Given the description of an element on the screen output the (x, y) to click on. 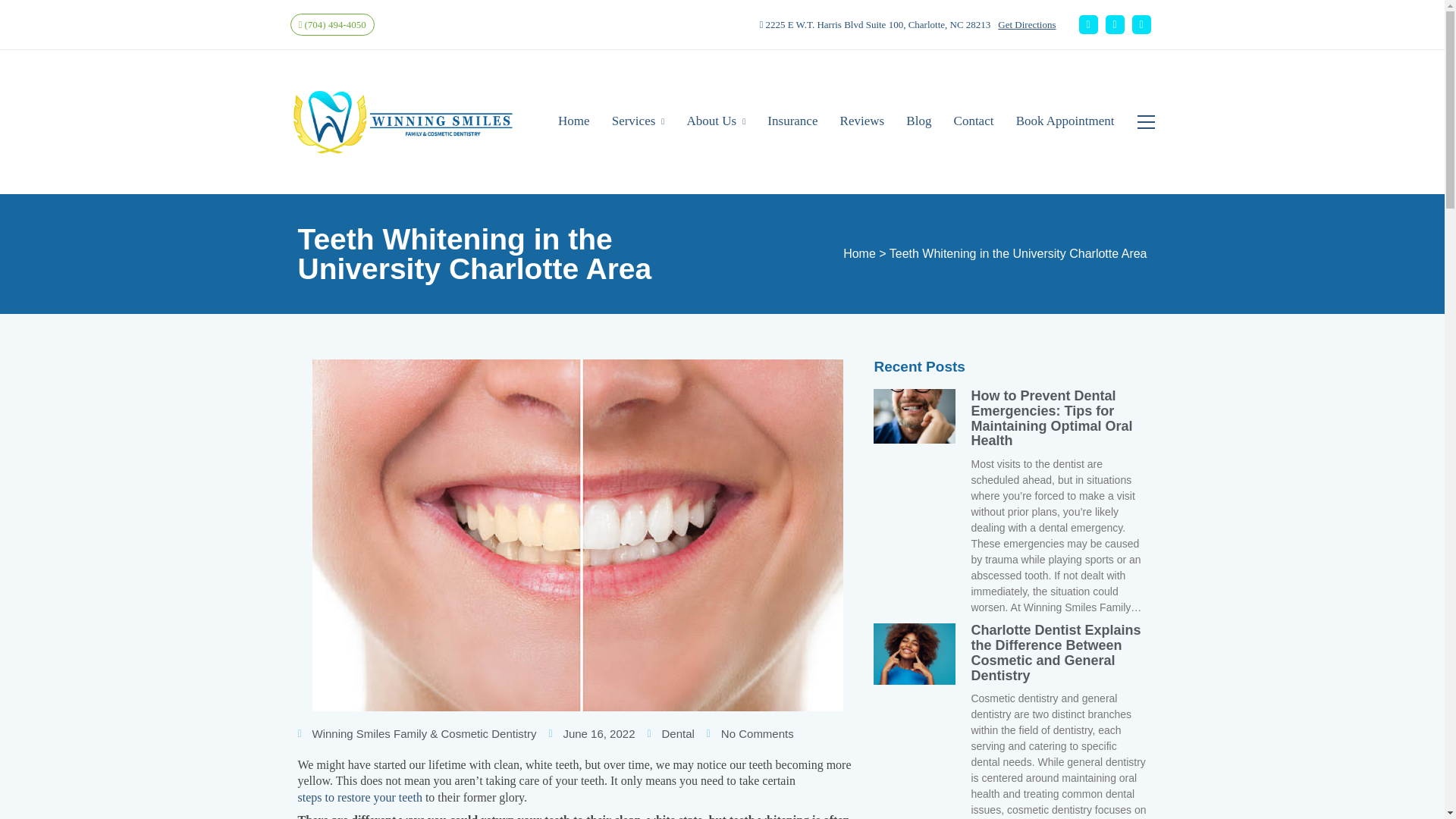
Instagram (1114, 24)
Home (573, 121)
June 16, 2022 (591, 734)
No Comments (749, 734)
2225 E W.T. Harris Blvd Suite 100, Charlotte, NC 28213 (874, 24)
Get Directions (1026, 24)
Reviews (862, 121)
Book Appointment (1065, 121)
Contact (973, 121)
About Us (716, 121)
Insurance (791, 121)
steps to restore your teeth (359, 797)
Blog (918, 121)
Facebook (1087, 24)
Yelp (1140, 24)
